Given the description of an element on the screen output the (x, y) to click on. 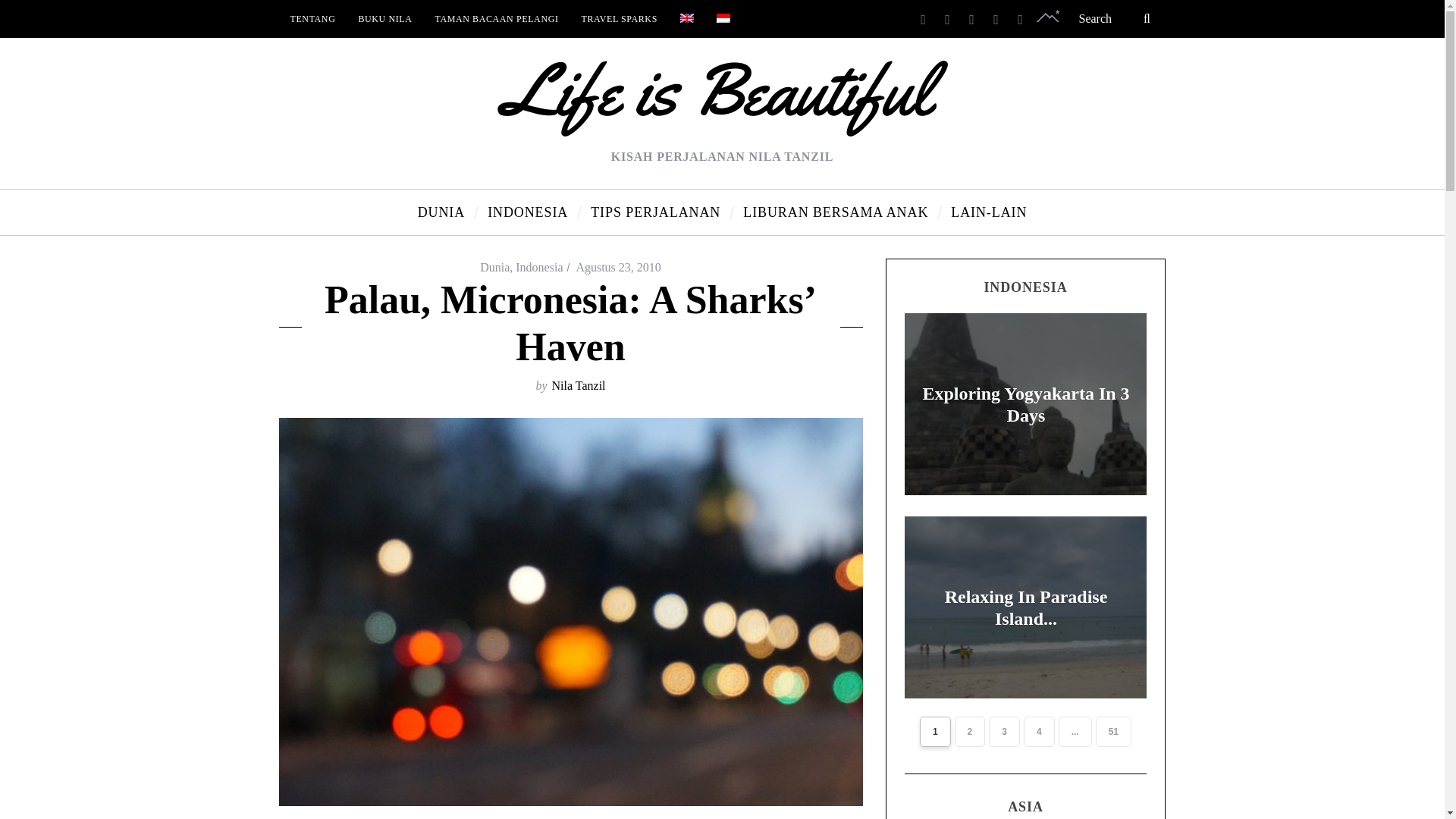
Search (1116, 18)
TRAVEL SPARKS (619, 18)
INDONESIA (527, 212)
TENTANG (313, 18)
DUNIA (441, 212)
Dunia (494, 267)
TIPS PERJALANAN (655, 212)
TAMAN BACAAN PELANGI (496, 18)
Indonesia (538, 267)
English (686, 17)
LAIN-LAIN (988, 212)
Nila Tanzil (578, 385)
LIBURAN BERSAMA ANAK (835, 212)
BUKU NILA (384, 18)
English (686, 18)
